Given the description of an element on the screen output the (x, y) to click on. 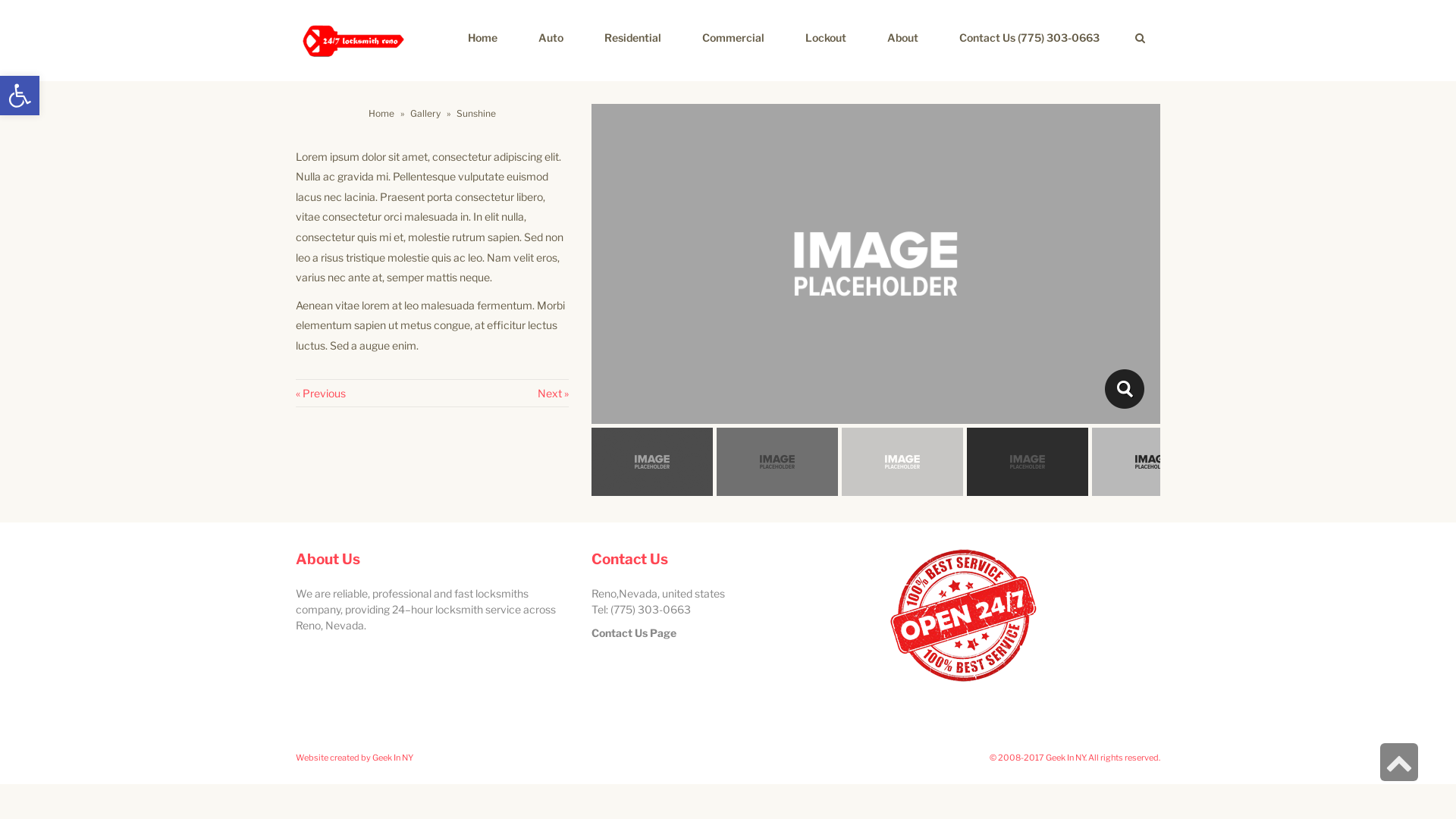
Scroll to top Element type: text (1399, 762)
Lockout Element type: text (825, 37)
About Element type: text (902, 37)
Gallery Element type: text (425, 113)
Contact Us Page Element type: text (633, 632)
Home Element type: text (482, 37)
Contact Us (775) 303-0663 Element type: text (1029, 37)
Auto Element type: text (550, 37)
Home Element type: text (381, 113)
Commercial Element type: text (732, 37)
pojo-placeholder-3 Element type: hover (1124, 388)
Residential Element type: text (632, 37)
Open toolbar Element type: text (19, 95)
Geek In NY Element type: text (392, 757)
